Given the description of an element on the screen output the (x, y) to click on. 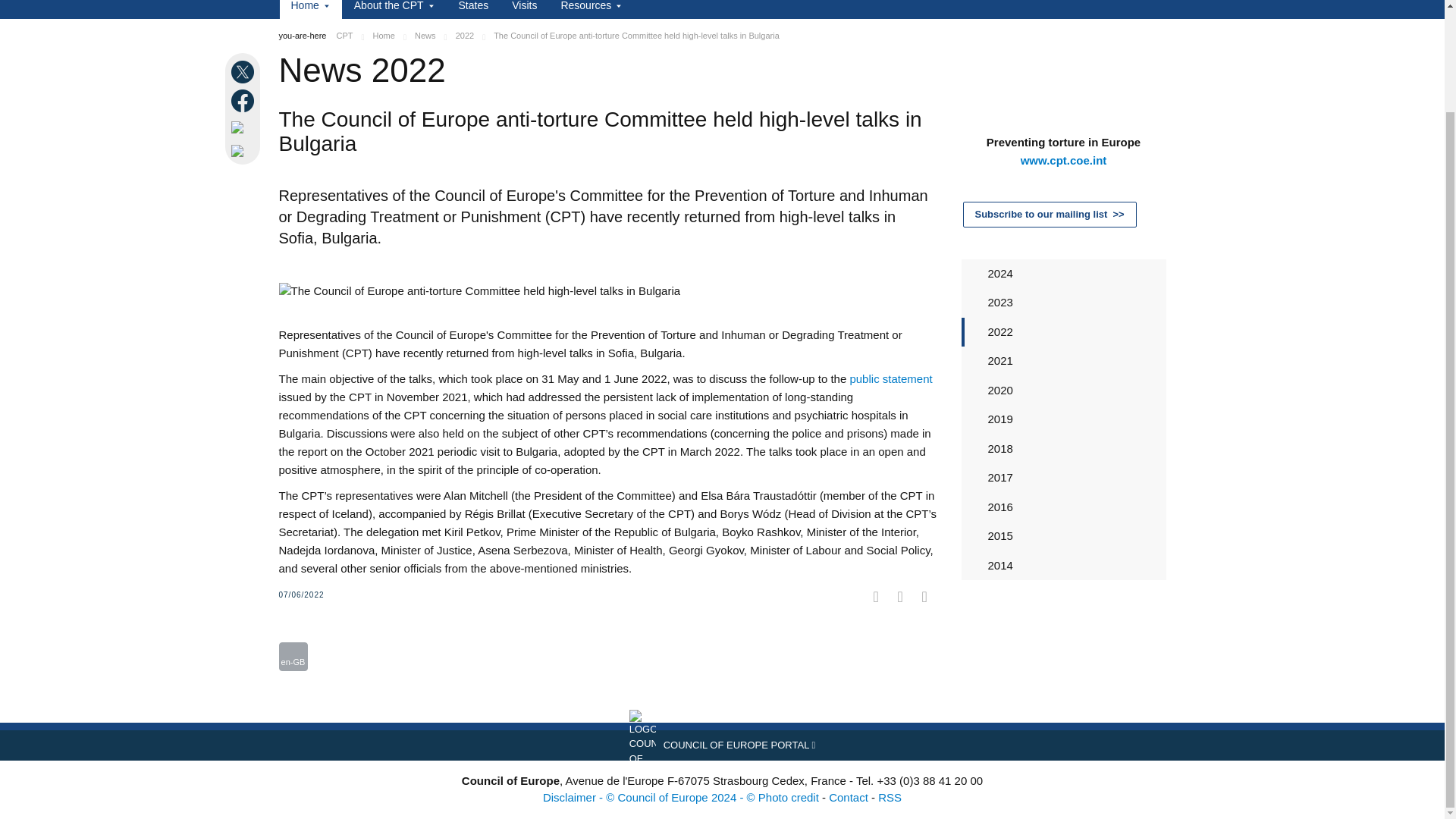
Facebook (290, 632)
Share on Facebook (244, 100)
Cvrkutati (312, 632)
Share on Linkedin (244, 126)
Send this page (244, 149)
Akcije (293, 656)
